Given the description of an element on the screen output the (x, y) to click on. 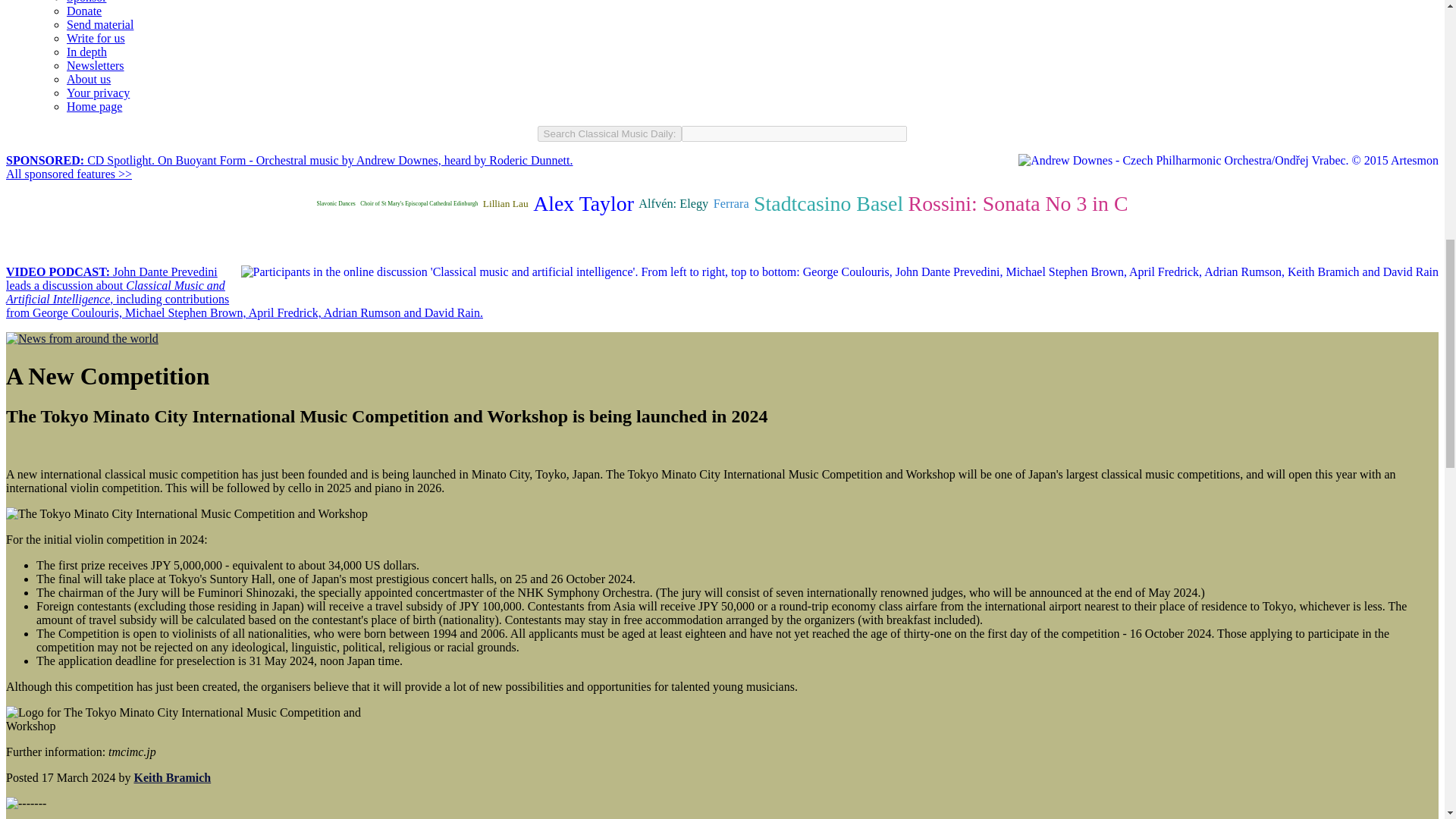
Search Classical Music Daily: (609, 133)
